Given the description of an element on the screen output the (x, y) to click on. 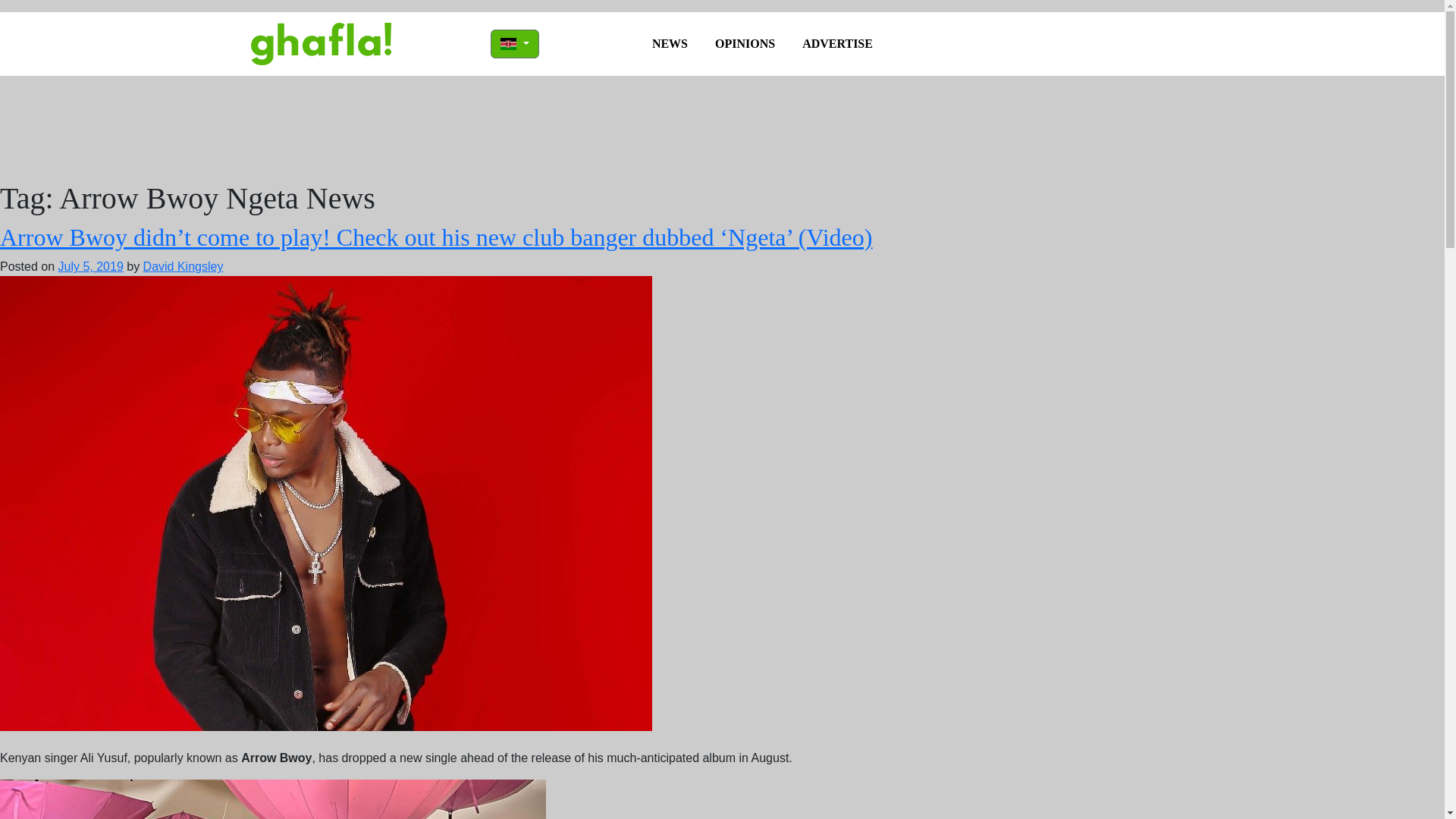
July 5, 2019 (90, 266)
NEWS (670, 43)
OPINIONS (744, 43)
David Kingsley (183, 266)
ADVERTISE (837, 43)
